Given the description of an element on the screen output the (x, y) to click on. 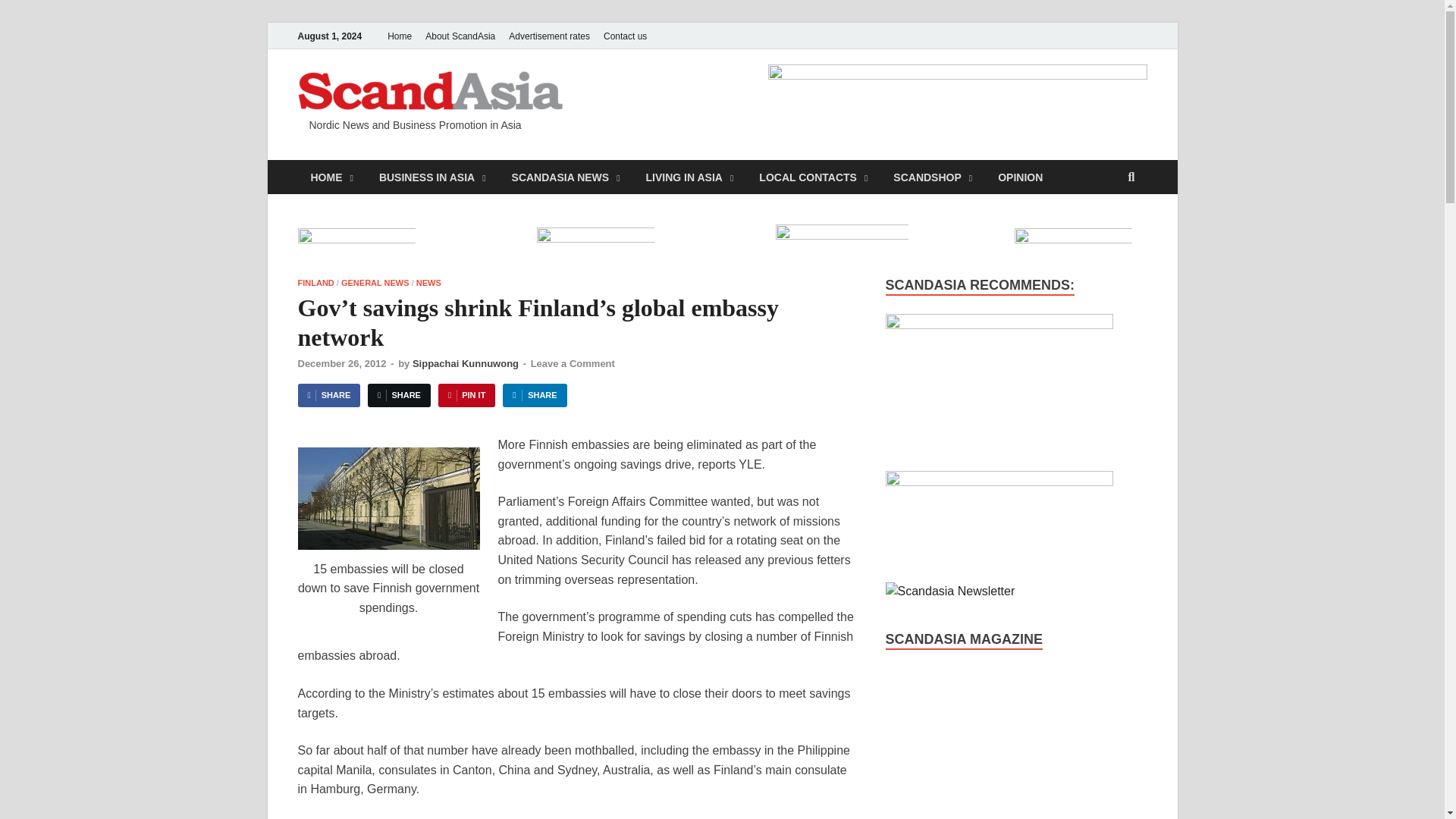
Advertisement rates (549, 35)
Contact us (624, 35)
BUSINESS IN ASIA (432, 176)
Home (399, 35)
About ScandAsia (460, 35)
HOME (331, 176)
